Given the description of an element on the screen output the (x, y) to click on. 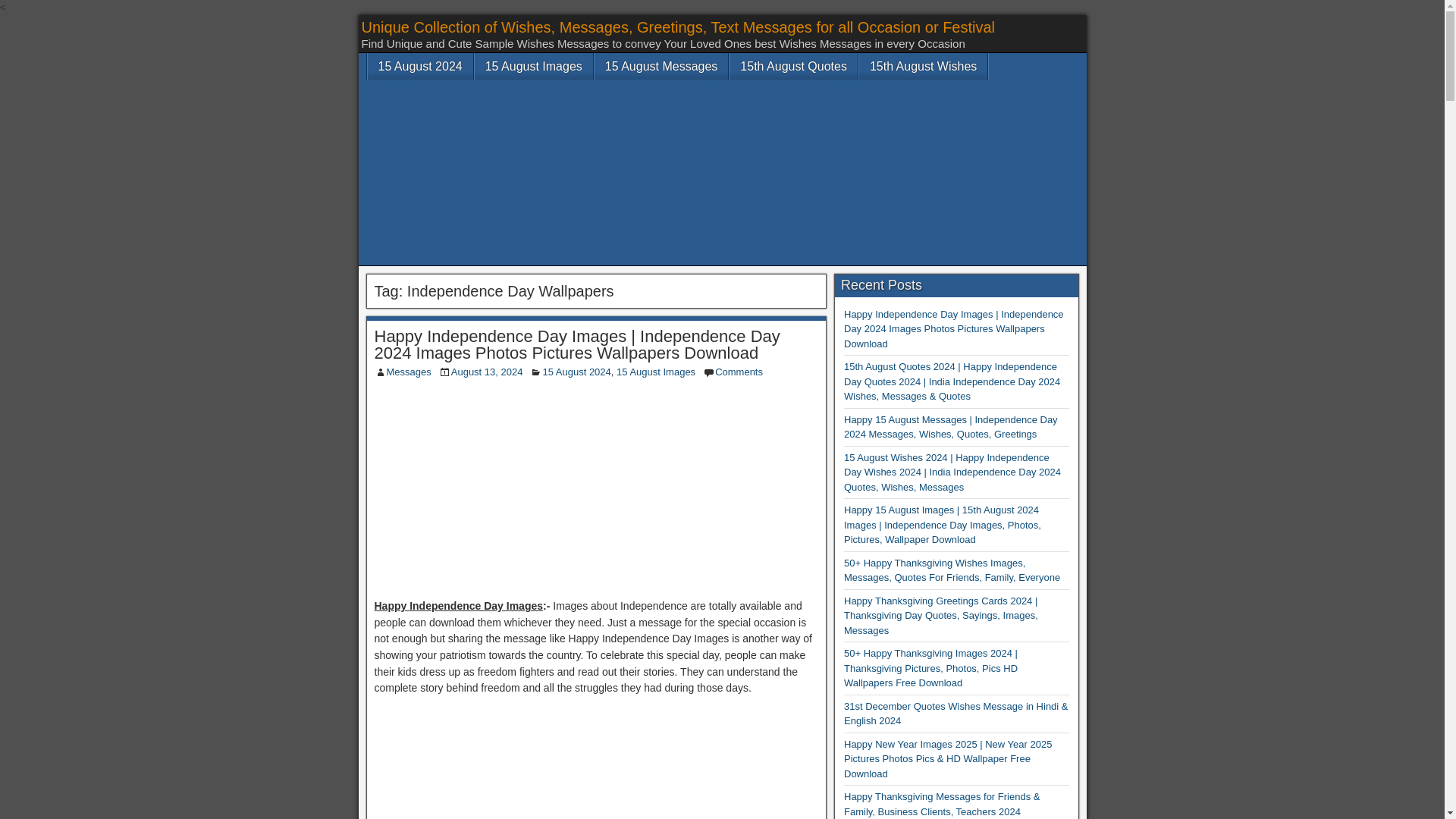
15th August Quotes (793, 66)
15 August Images (533, 66)
15 August Messages (661, 66)
15 August 2024 (418, 66)
15 August Images (655, 371)
15th August Wishes (923, 66)
Comments (738, 371)
Messages (408, 371)
August 13, 2024 (486, 371)
